Given the description of an element on the screen output the (x, y) to click on. 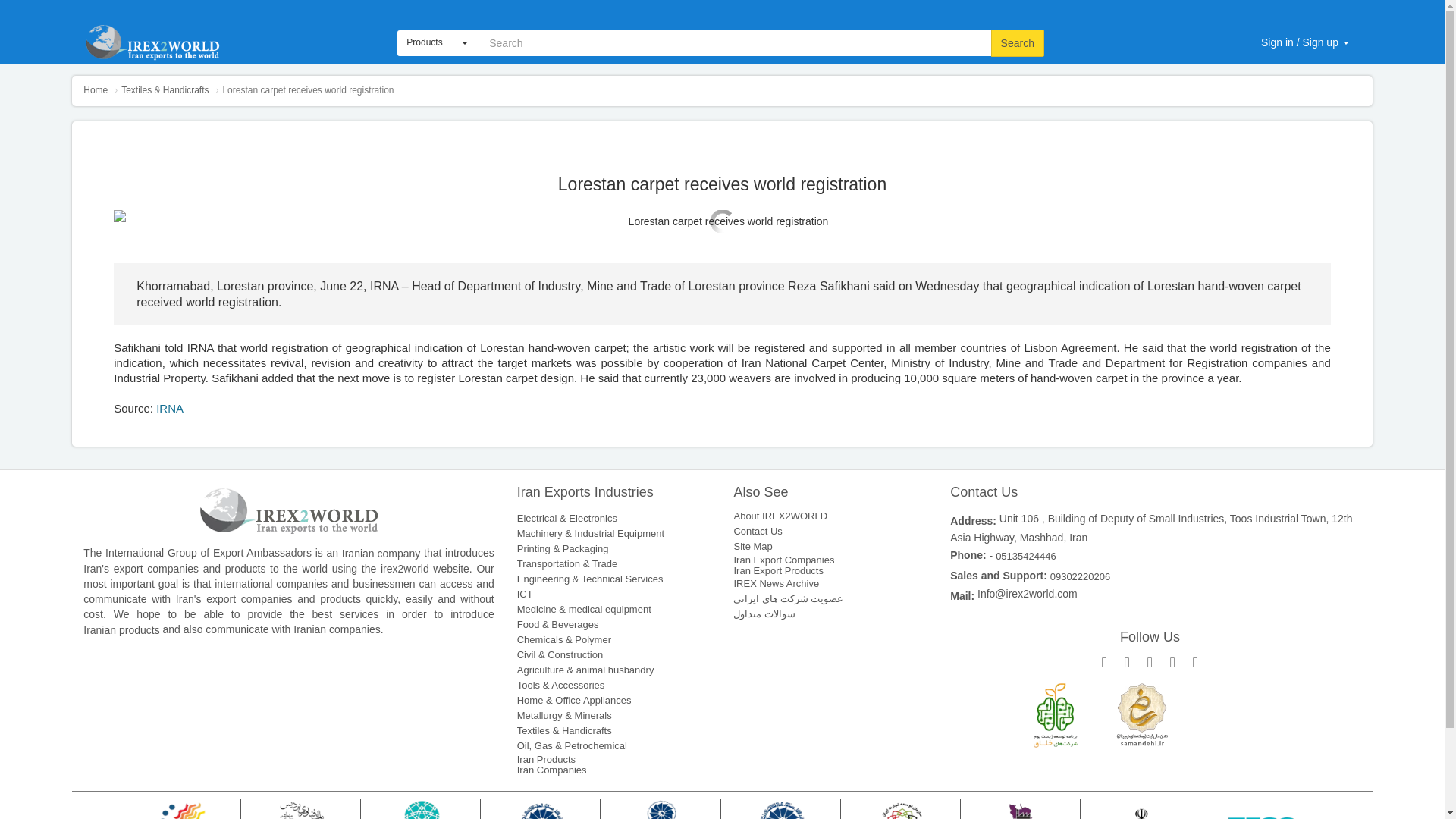
IRNA (169, 408)
English (1315, 4)
Video Gallery (1001, 4)
Lorestan carpet receives world registration (721, 220)
About us (869, 4)
Blog (437, 42)
Site map (1062, 4)
For Buyer (930, 4)
Products (1233, 4)
Home (437, 42)
Iran's export statistics (94, 90)
Search (1141, 4)
